Given the description of an element on the screen output the (x, y) to click on. 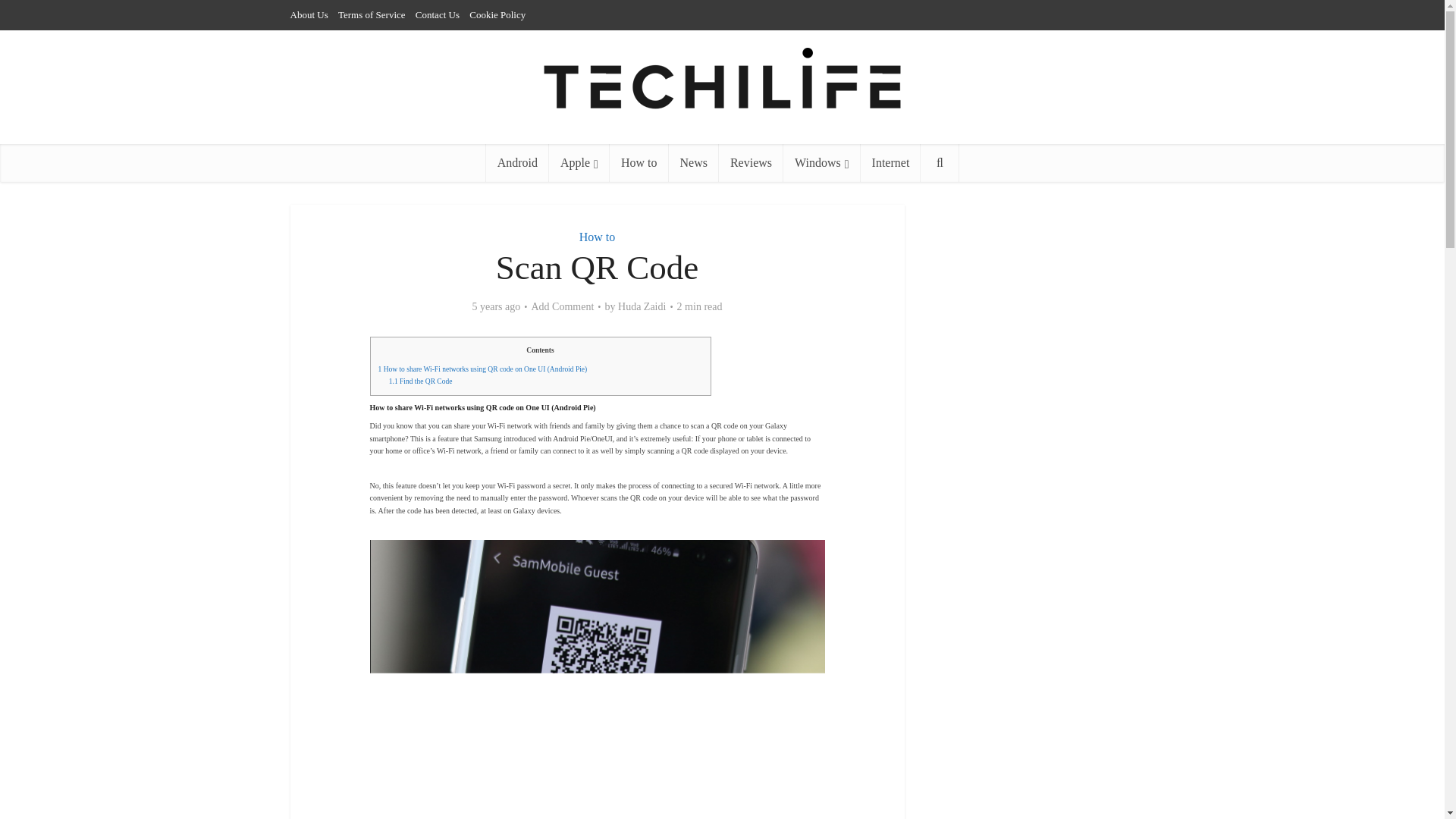
How to (639, 162)
Add Comment (562, 306)
News (693, 162)
Terms of Service (371, 14)
Apple (579, 162)
Contact Us (437, 14)
Reviews (751, 162)
Internet (890, 162)
Android (517, 162)
About Us (308, 14)
